Given the description of an element on the screen output the (x, y) to click on. 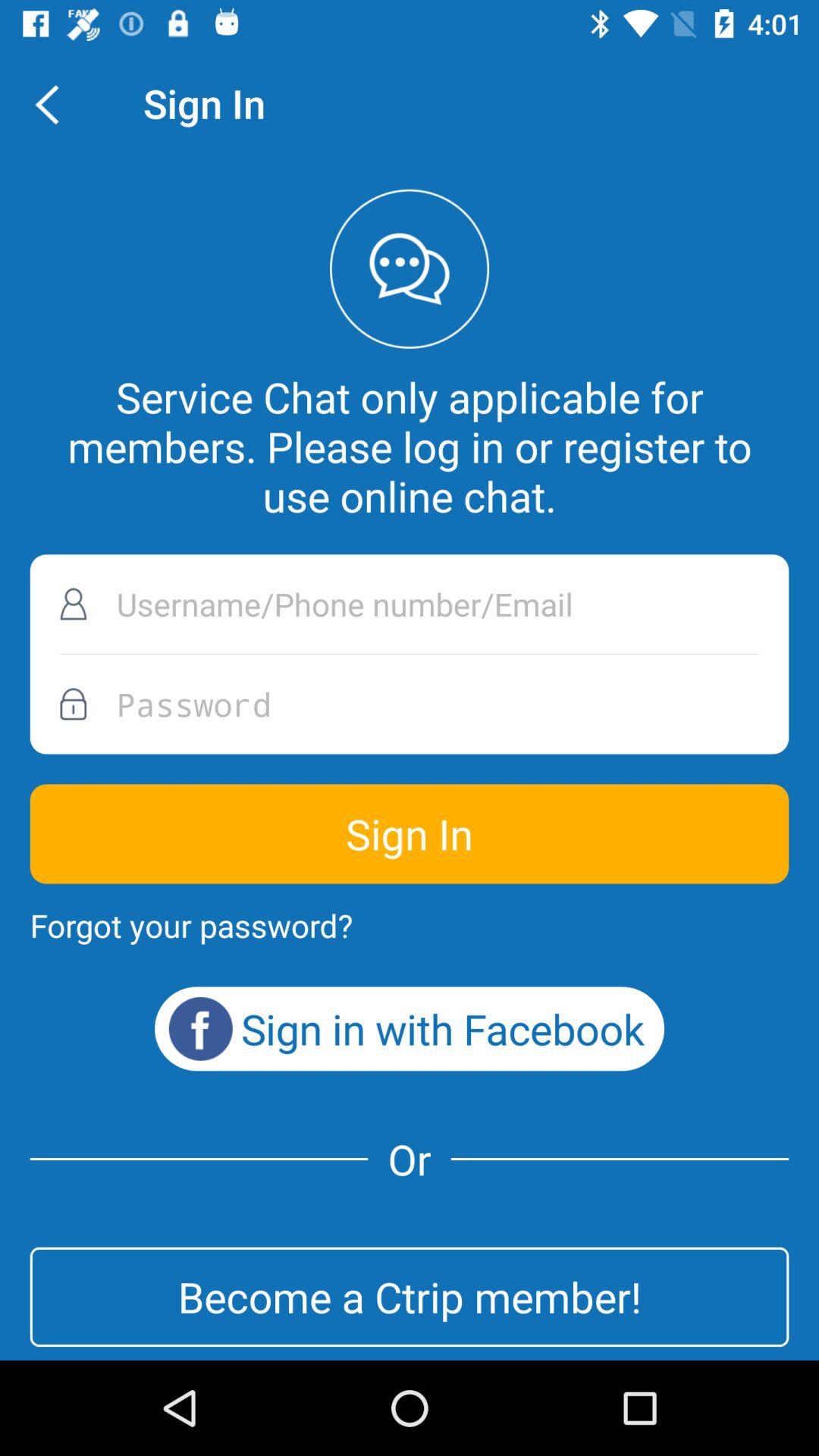
turn on item above the sign in with icon (191, 924)
